Given the description of an element on the screen output the (x, y) to click on. 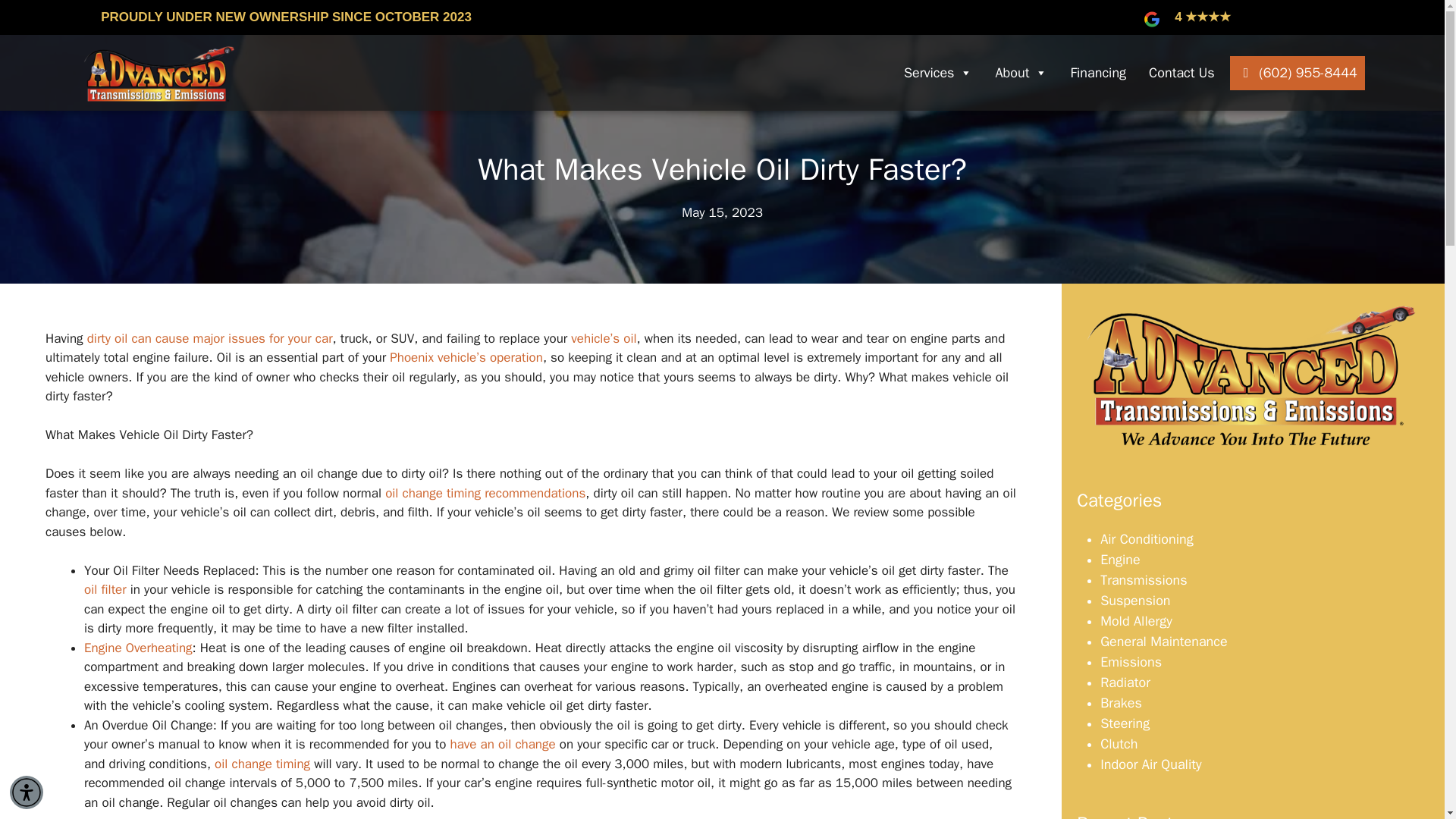
About (1020, 72)
73 topics (1163, 641)
oil change timing (262, 763)
2 topics (1146, 538)
27 topics (1143, 579)
oil change timing recommendations (485, 493)
Google Rainbow Icon (1151, 19)
Financing (1098, 72)
Accessibility Menu (26, 792)
Engine Overheating (138, 647)
33 topics (1120, 559)
oil filter (105, 589)
2 topics (1135, 600)
have an oil change (502, 744)
2 topics (1136, 620)
